Given the description of an element on the screen output the (x, y) to click on. 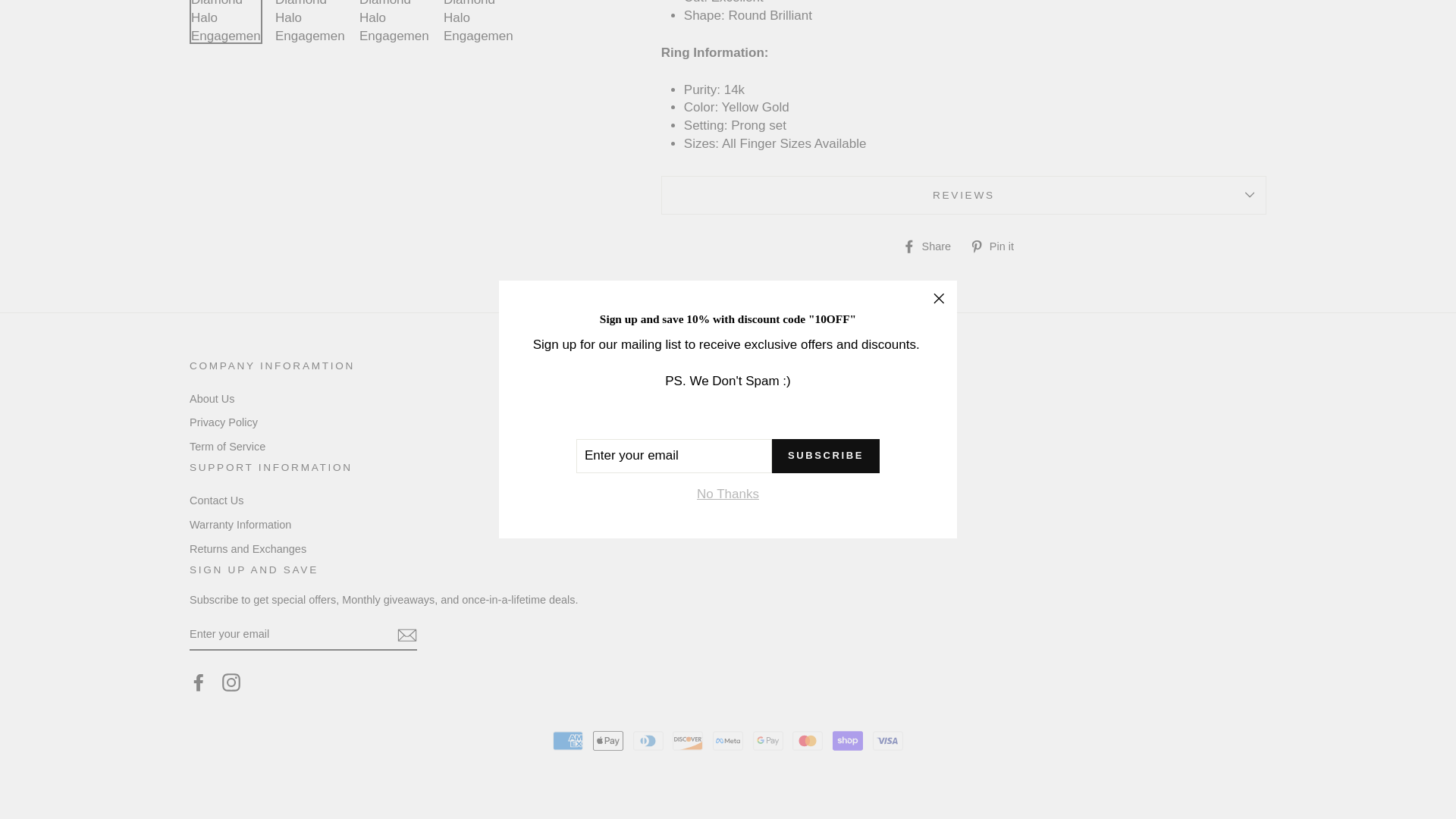
Shop Pay (847, 740)
Diners Club (648, 740)
Mastercard (807, 740)
Apple Pay (607, 740)
Visa (887, 740)
Google Pay (767, 740)
Meta Pay (727, 740)
Discover (687, 740)
American Express (568, 740)
